Given the description of an element on the screen output the (x, y) to click on. 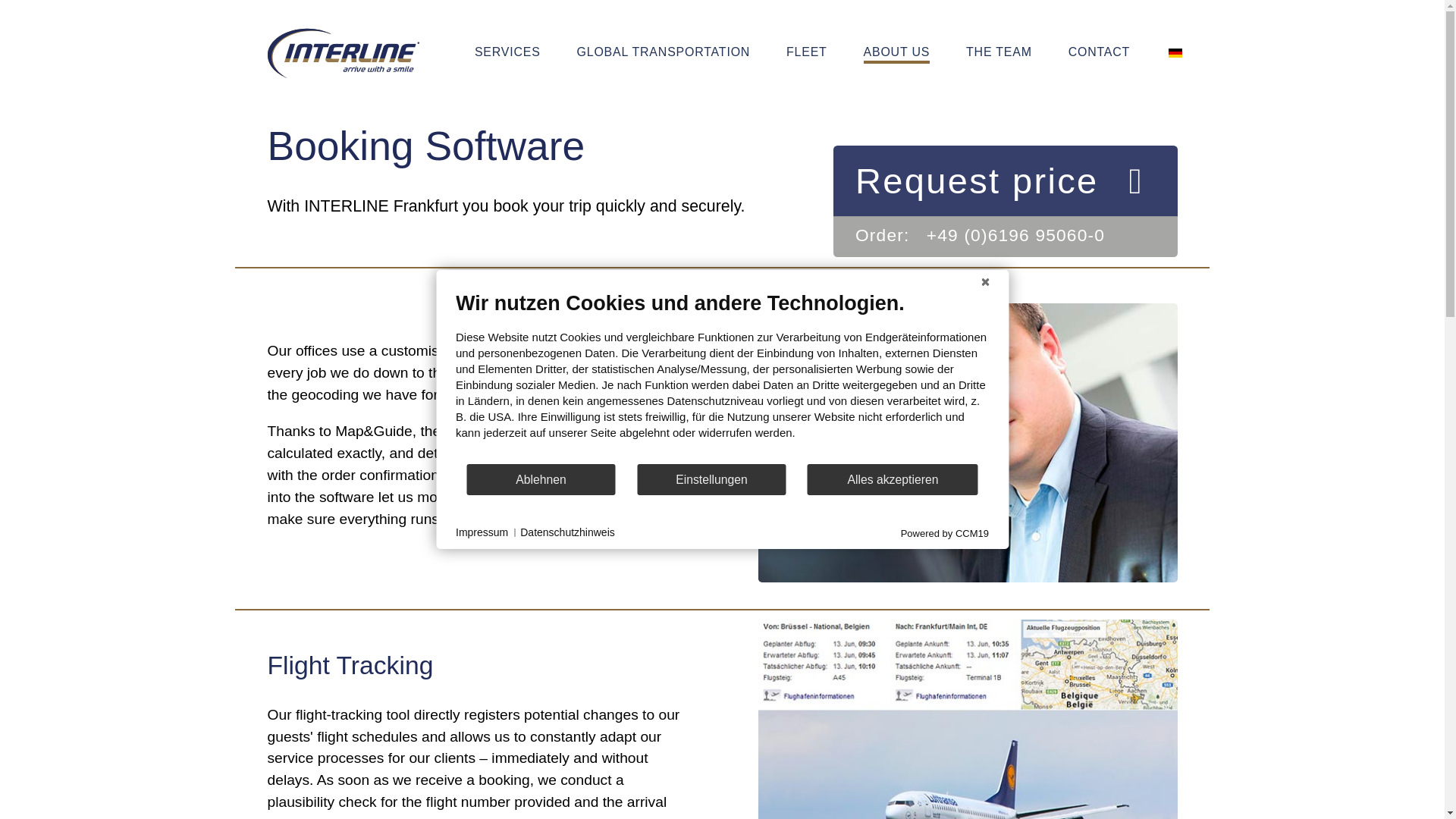
ABOUT US (896, 52)
SERVICES (508, 52)
Request price (1004, 180)
CONTACT (1099, 52)
FLEET (807, 52)
THE TEAM (998, 52)
GLOBAL TRANSPORTATION (663, 52)
Close (984, 282)
